Given the description of an element on the screen output the (x, y) to click on. 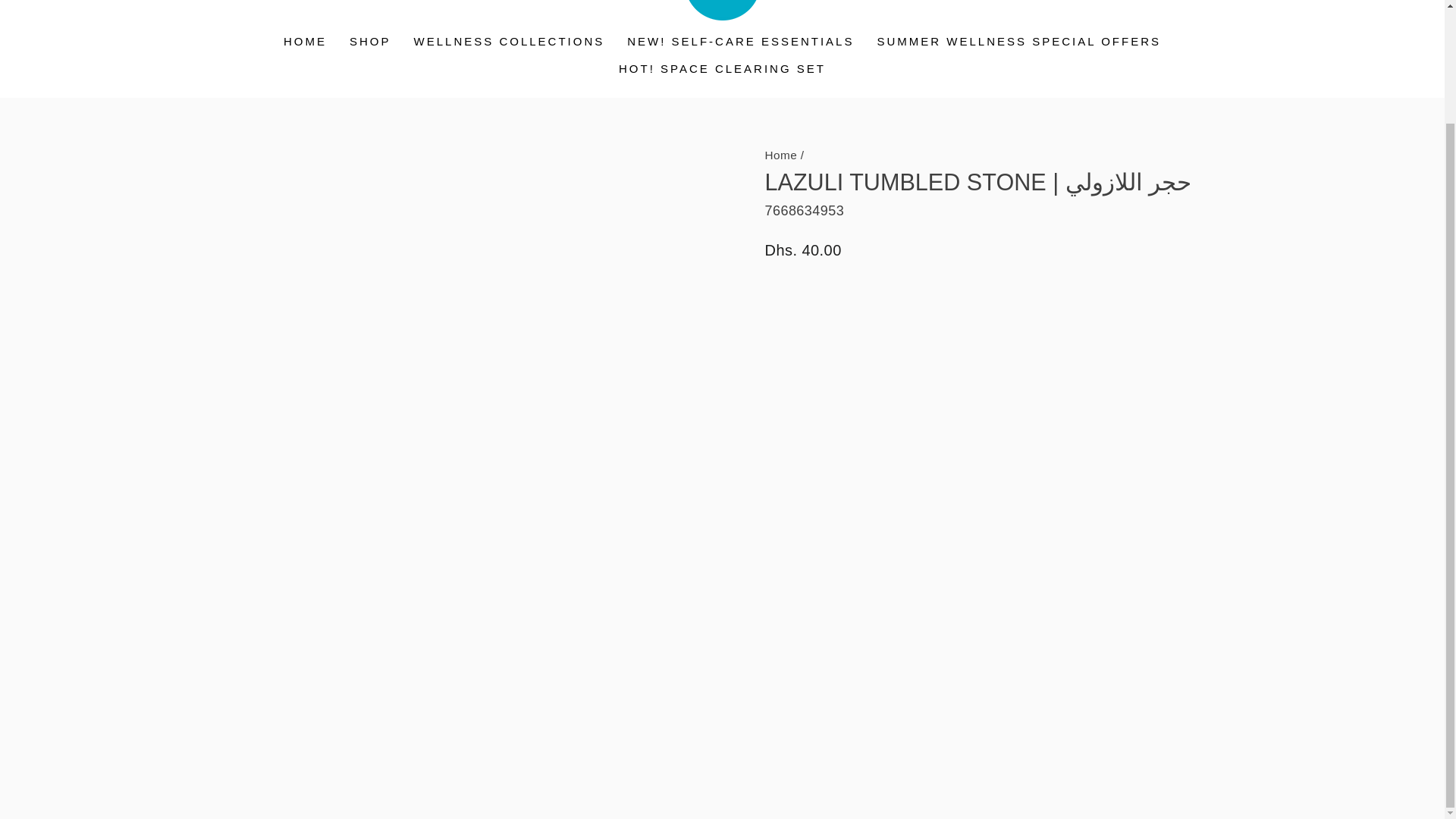
Back to the frontpage (780, 154)
